Given the description of an element on the screen output the (x, y) to click on. 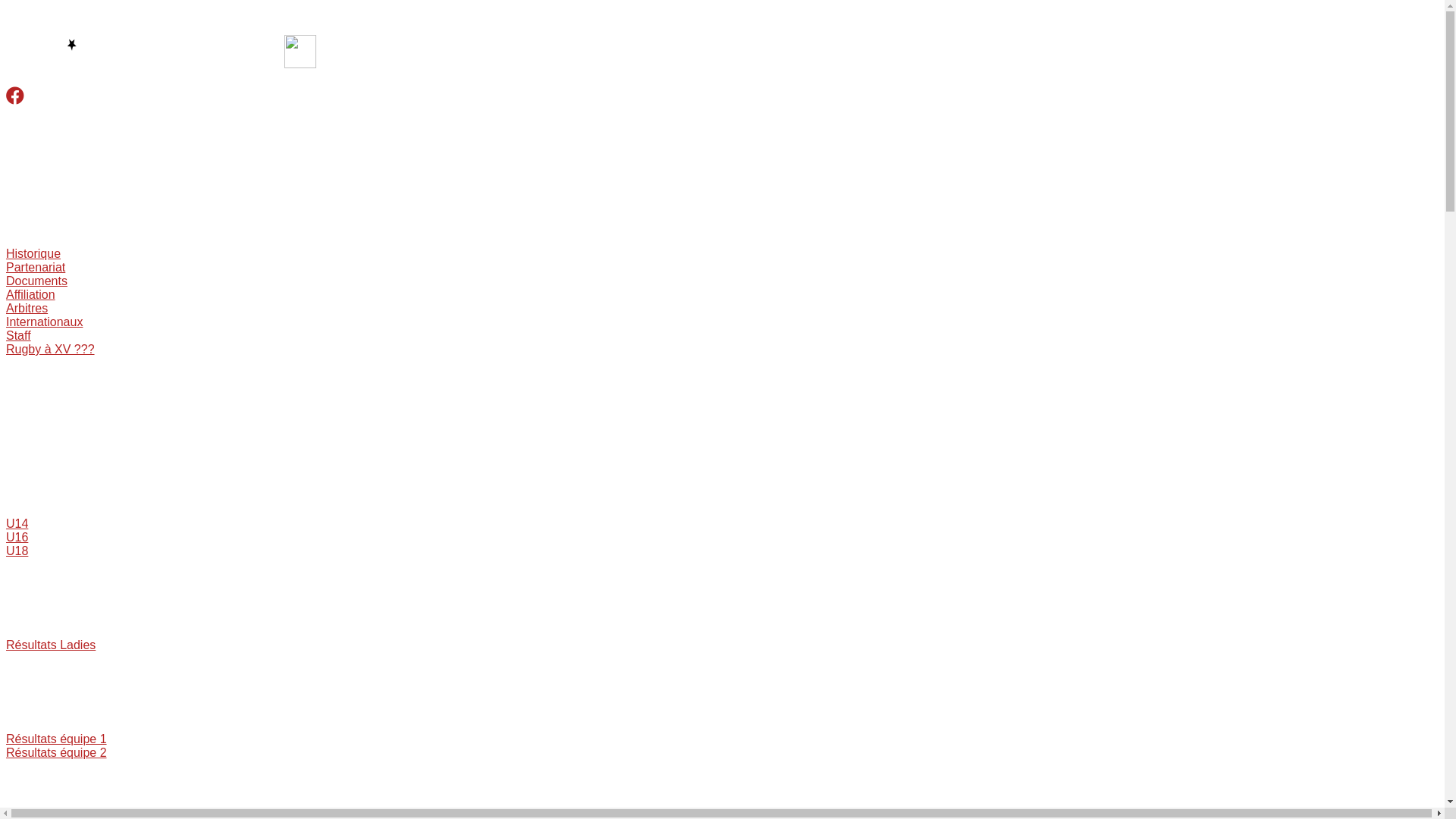
U16 Element type: text (17, 536)
Internationaux Element type: text (44, 321)
Ladies Element type: text (29, 597)
Black Star Element type: text (39, 206)
Arbitres Element type: text (26, 307)
La nouvelle boutique Element type: text (61, 799)
Skip to content Element type: text (5, 5)
U14 Element type: text (17, 523)
Seniors Element type: text (31, 691)
Historique Element type: text (33, 253)
Affiliation Element type: text (30, 294)
Partenariat Element type: text (35, 266)
Documents Element type: text (36, 280)
U18 Element type: text (17, 550)
Ecole de Jeunes Element type: text (48, 395)
Ecole de Rugby Element type: text (52, 476)
Staff Element type: text (18, 335)
